Given the description of an element on the screen output the (x, y) to click on. 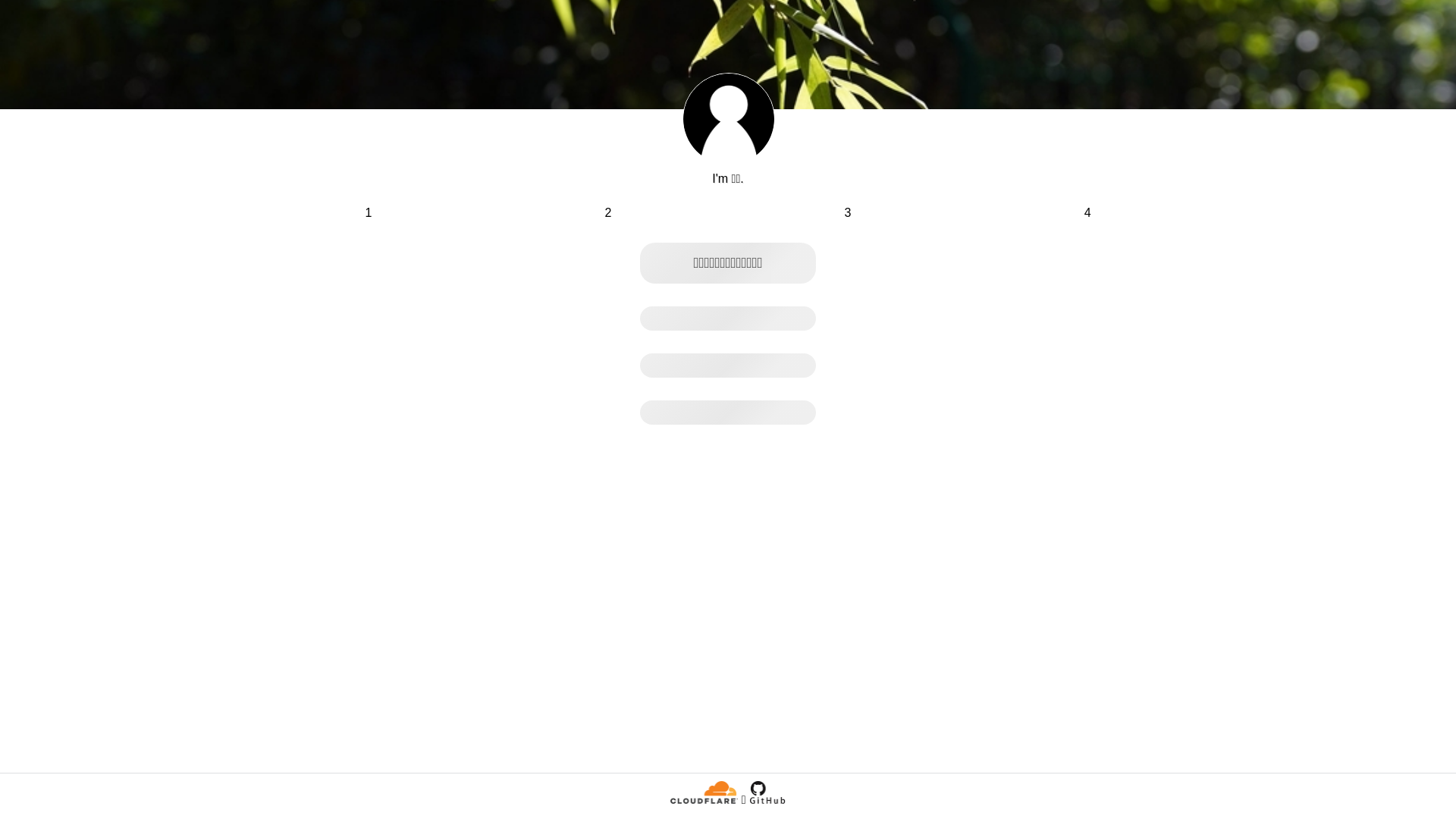
4 Element type: text (1087, 212)
3 Element type: text (847, 212)
2 Element type: text (608, 212)
1 Element type: text (367, 212)
